Given the description of an element on the screen output the (x, y) to click on. 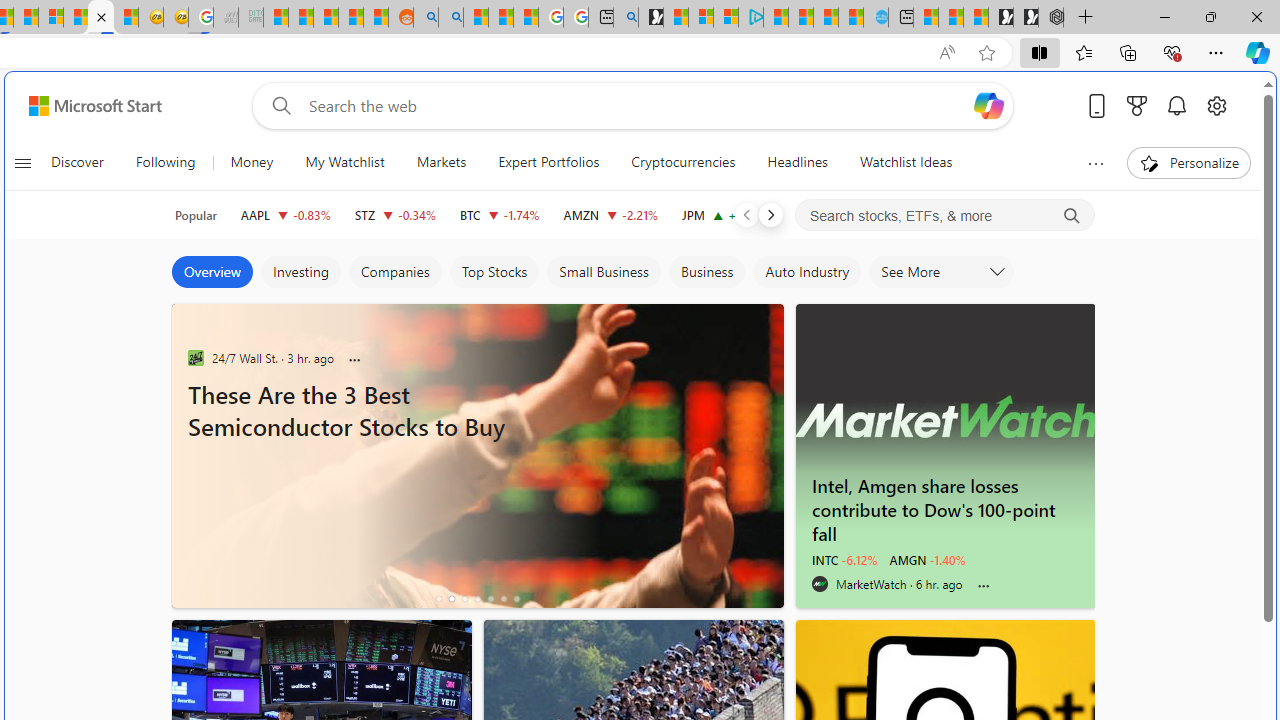
BTC Bitcoin decrease 60,359.26 -1,049.65 -1.74% (499, 214)
Companies (394, 272)
Previous (746, 214)
Student Loan Update: Forgiveness Program Ends This Month (351, 17)
JPM JPMORGAN CHASE & CO. increase 216.71 +2.11 +0.98% (725, 214)
Cryptocurrencies (683, 162)
Headlines (797, 162)
